Given the description of an element on the screen output the (x, y) to click on. 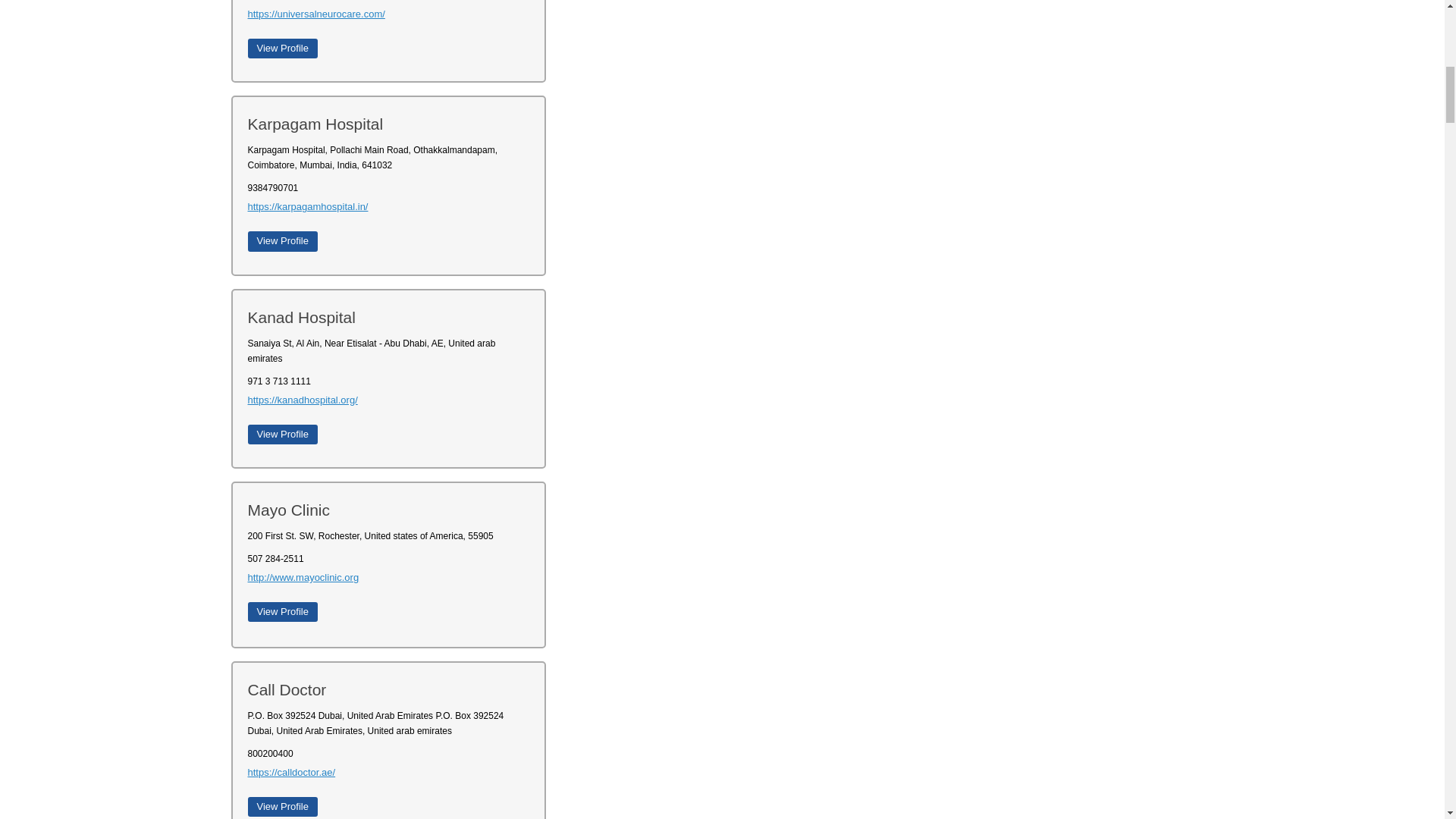
Click here to view profile (282, 48)
Click here to view profile (282, 240)
Click here to view profile (282, 434)
Click here to view profile (282, 806)
Click here to view profile (282, 611)
